Given the description of an element on the screen output the (x, y) to click on. 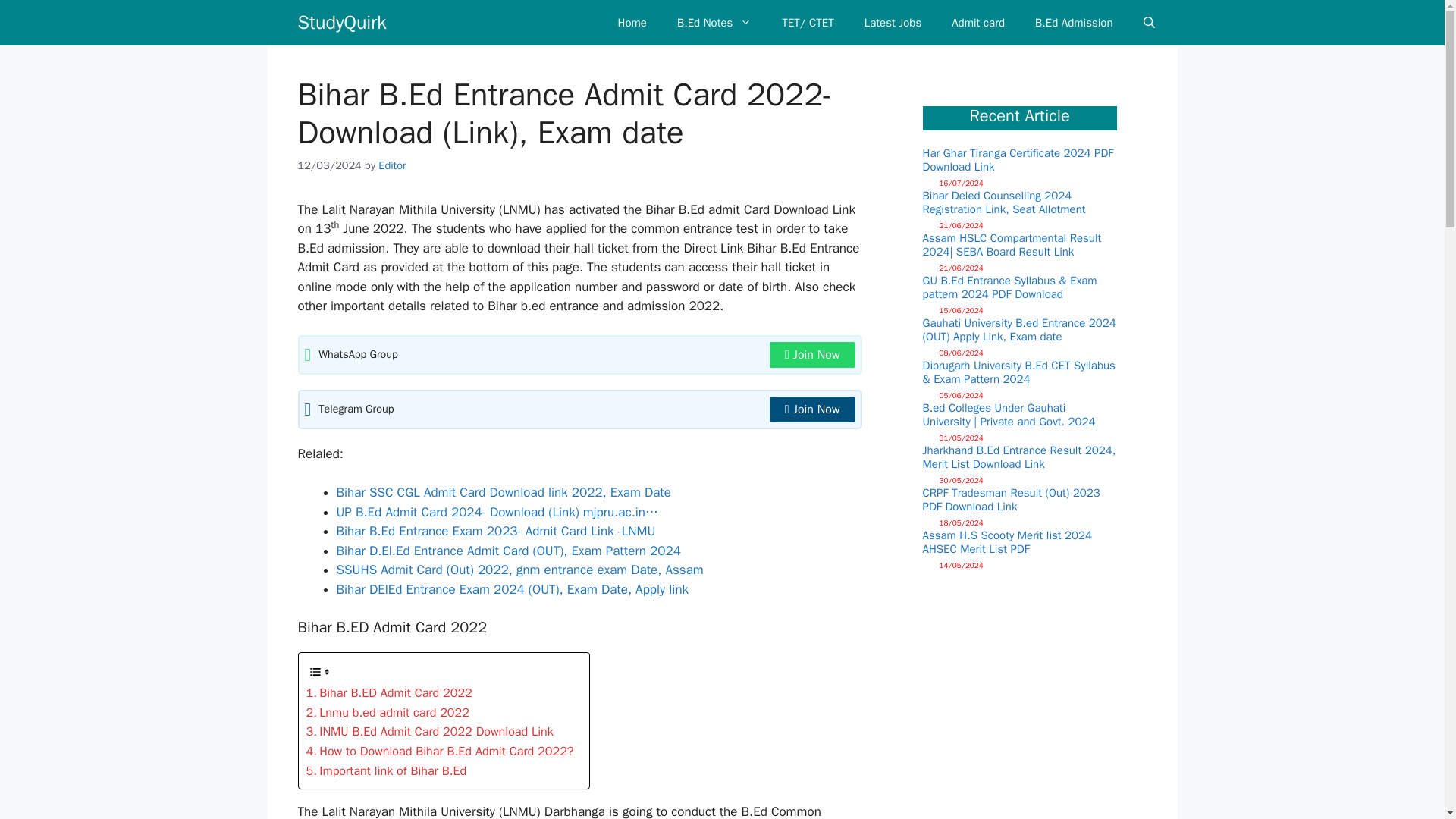
Bihar SSC CGL Admit Card Download link 2022, Exam Date (503, 492)
Lnmu b.ed admit card 2022 (386, 712)
B.Ed Notes (714, 22)
Bihar B.ED Admit Card 2022 (388, 692)
INMU B.Ed Admit Card 2022 Download Link (429, 731)
StudyQuirk (341, 22)
View all posts by Editor (392, 164)
Admit card (978, 22)
Important link of Bihar B.Ed (386, 771)
Lnmu b.ed admit card 2022 (386, 712)
Join Now (813, 354)
Editor (392, 164)
How to Download Bihar B.Ed Admit Card 2022? (439, 751)
Bihar B.Ed Entrance Exam 2023- Admit Card Link -LNMU (496, 530)
Join Now (813, 409)
